Given the description of an element on the screen output the (x, y) to click on. 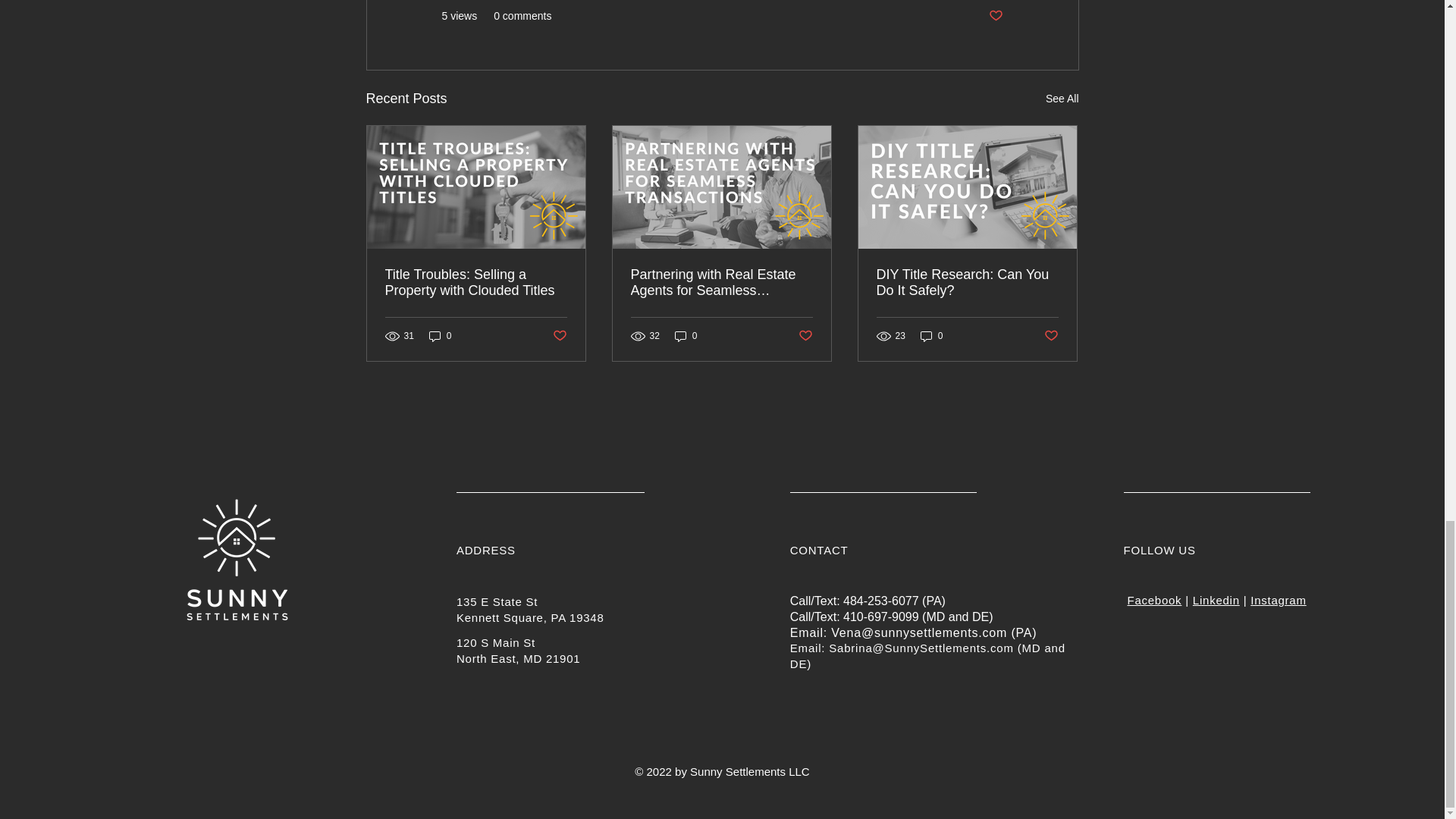
Instagram (1278, 599)
Facebook (1153, 599)
Post not marked as liked (1050, 335)
0 (440, 336)
Post not marked as liked (995, 16)
Post not marked as liked (558, 335)
Partnering with Real Estate Agents for Seamless Transactions (721, 282)
See All (1061, 98)
Linkedin (1216, 599)
Title Troubles: Selling a Property with Clouded Titles (476, 282)
